Given the description of an element on the screen output the (x, y) to click on. 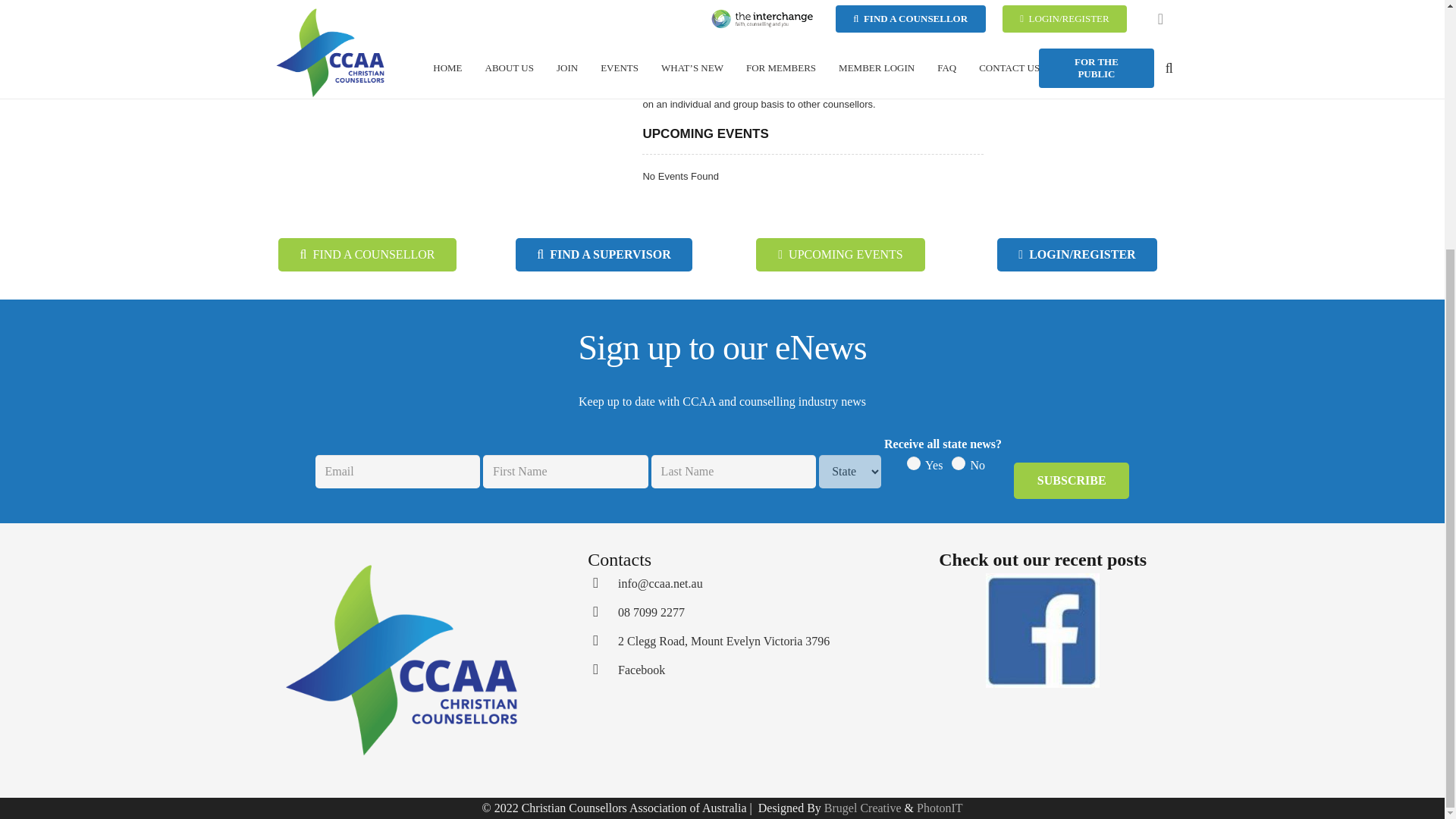
Subscribe (1071, 480)
No (958, 463)
Facebook (641, 670)
Facebook (602, 670)
Yes (913, 463)
